Given the description of an element on the screen output the (x, y) to click on. 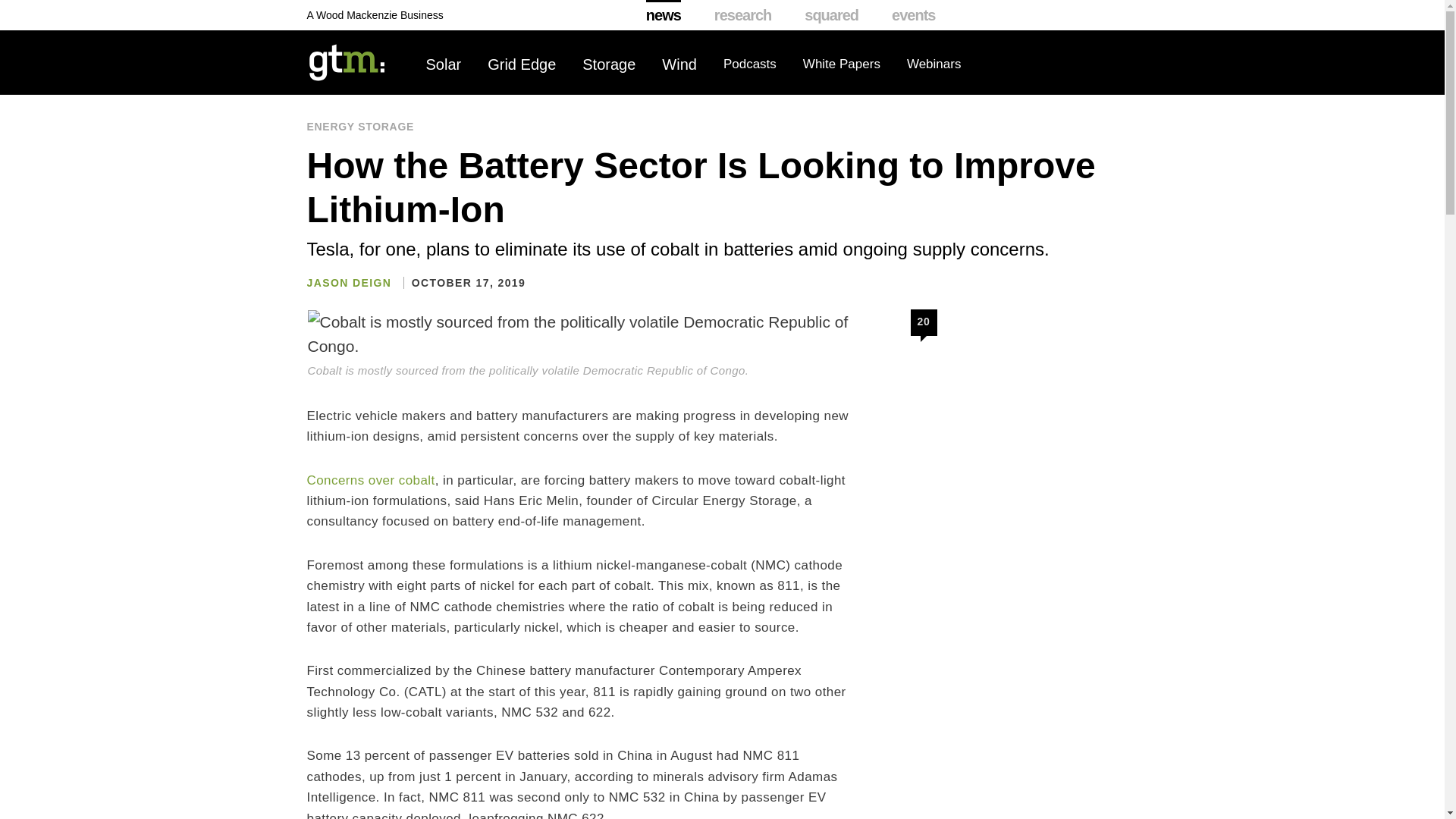
Podcasts (749, 64)
squared (832, 15)
Grid Edge (521, 64)
Solar (443, 64)
Wind (679, 64)
events (912, 15)
research (742, 15)
Storage (608, 64)
news (663, 15)
White Papers (841, 64)
